Given the description of an element on the screen output the (x, y) to click on. 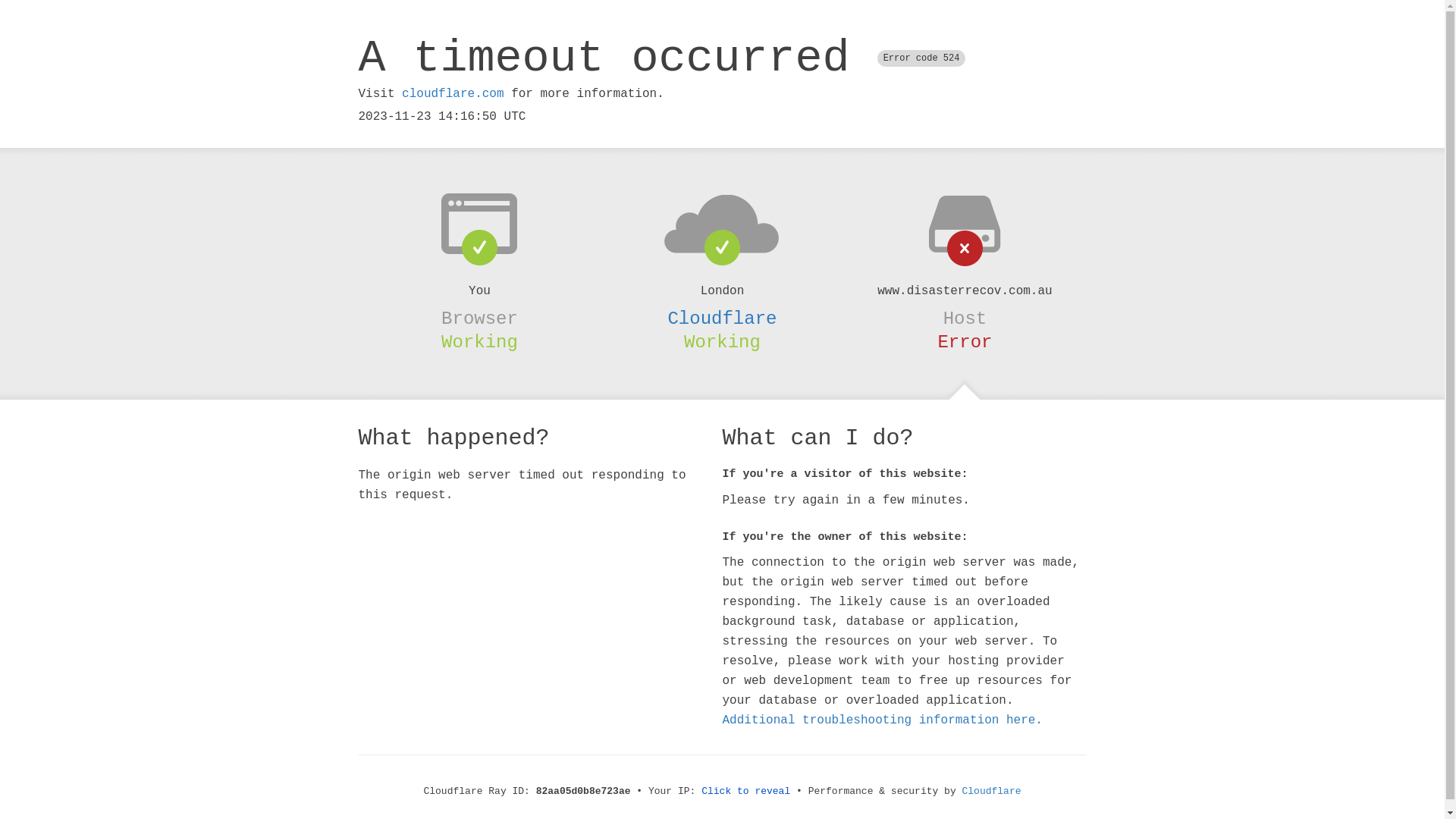
cloudflare.com Element type: text (452, 93)
Cloudflare Element type: text (721, 318)
Cloudflare Element type: text (991, 791)
Additional troubleshooting information here. Element type: text (881, 720)
Click to reveal Element type: text (745, 791)
